Given the description of an element on the screen output the (x, y) to click on. 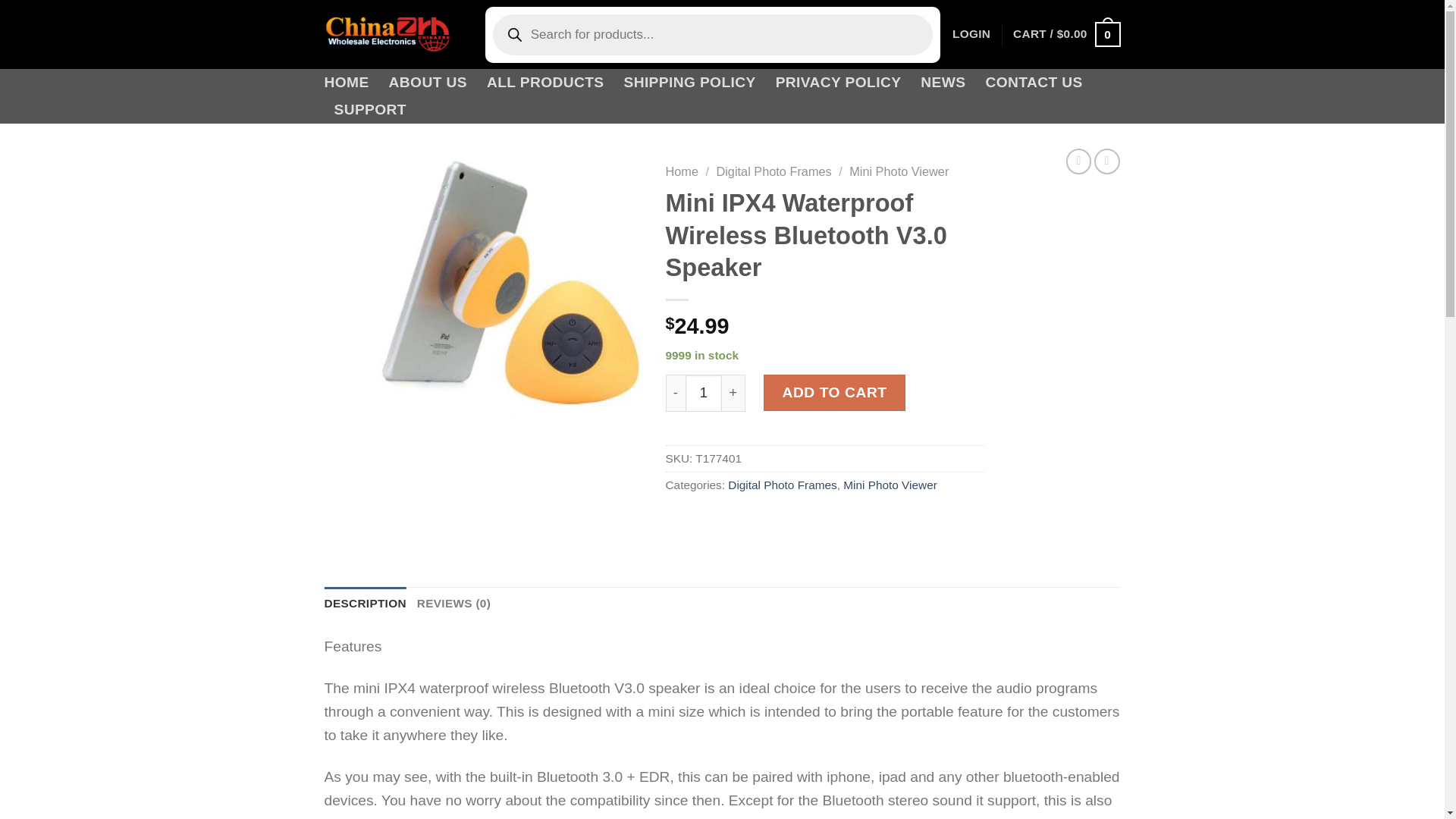
Mini Photo Viewer (898, 171)
1 (703, 392)
HOME (346, 82)
Cart (1066, 34)
CONTACT US (1033, 82)
LOGIN (971, 34)
NEWS (942, 82)
PRIVACY POLICY (838, 82)
ABOUT US (427, 82)
ALL PRODUCTS (545, 82)
